Given the description of an element on the screen output the (x, y) to click on. 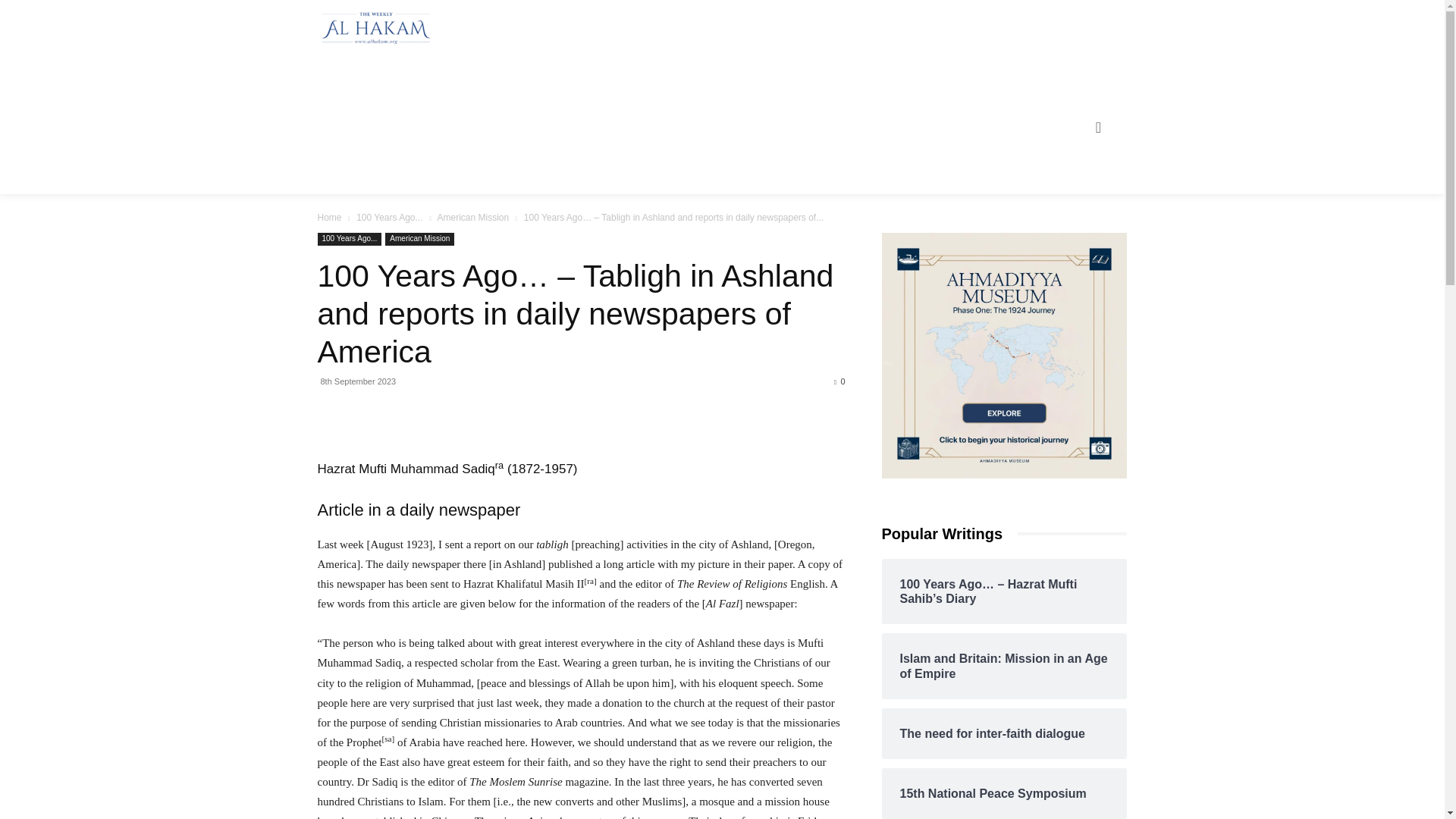
Alhakam (372, 27)
View all posts in American Mission (472, 217)
View all posts in 100 Years Ago... (389, 217)
